Given the description of an element on the screen output the (x, y) to click on. 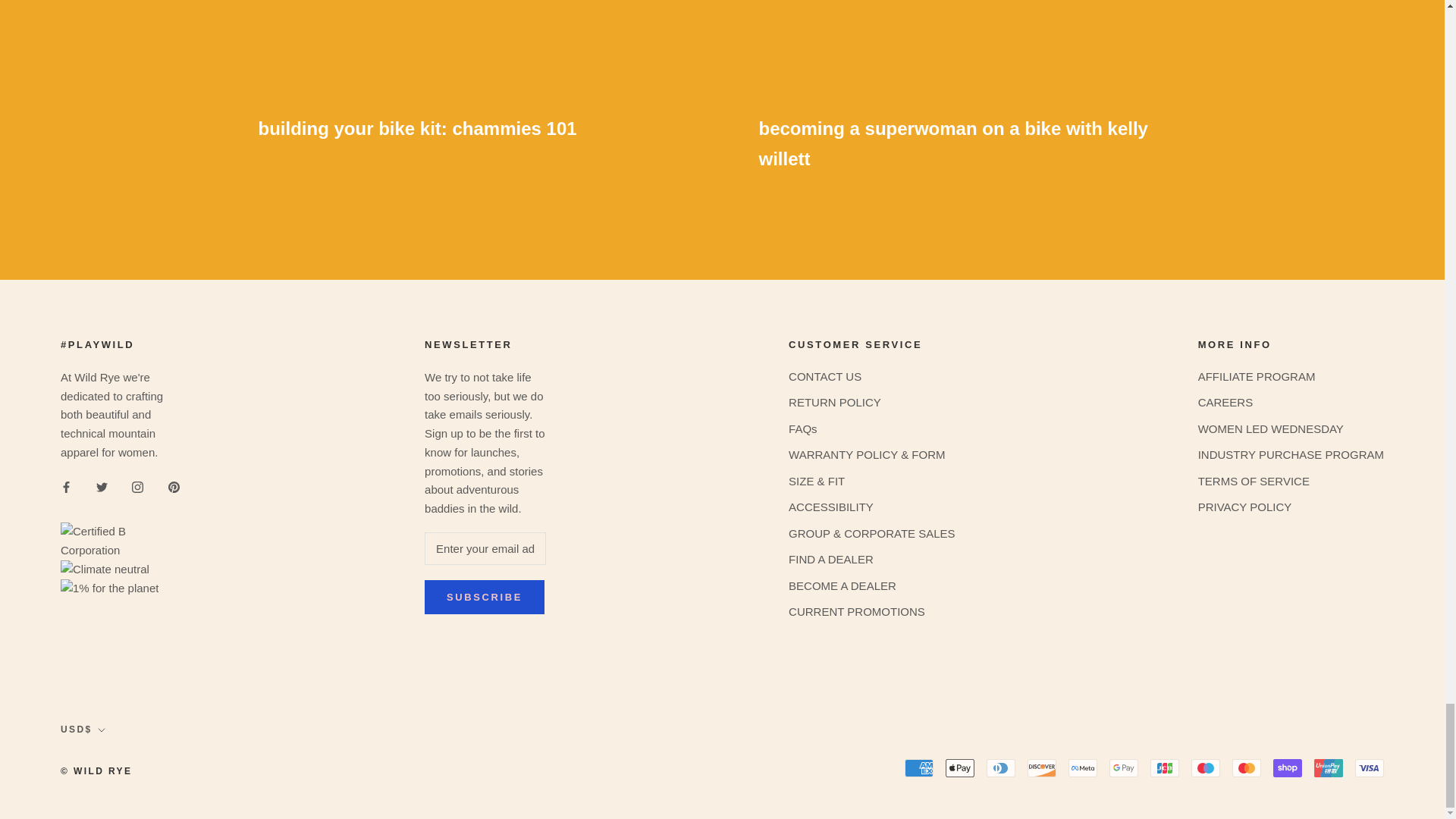
Apple Pay (959, 768)
Maestro (1205, 768)
Climate neutral (121, 600)
JCB (1164, 768)
Meta Pay (1082, 768)
Certified B Corporation (121, 504)
Diners Club (1000, 768)
Discover (1042, 768)
American Express (918, 768)
Google Pay (1123, 768)
